Given the description of an element on the screen output the (x, y) to click on. 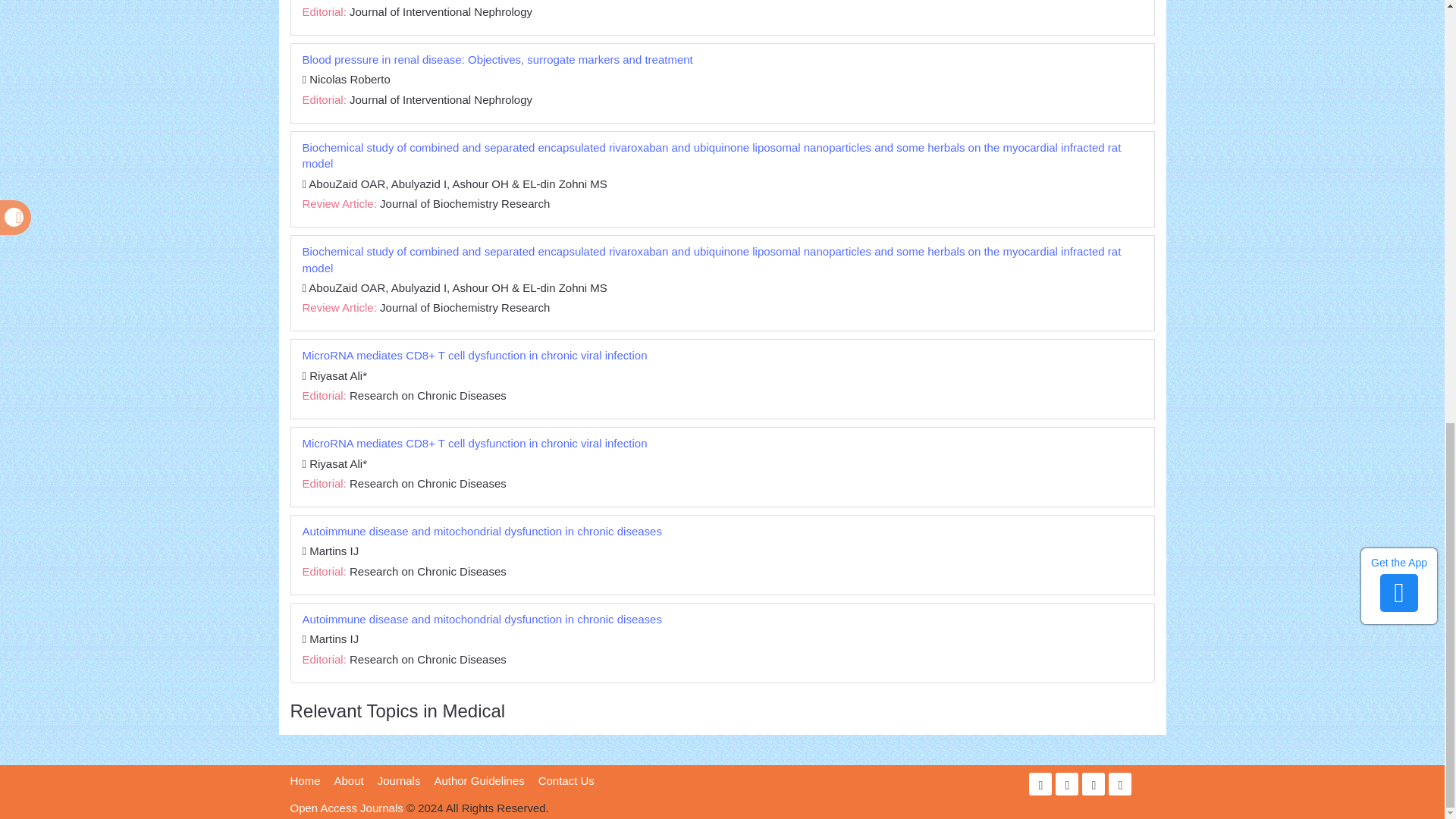
Journal of Biochemistry Research (465, 203)
Journal of Interventional Nephrology (440, 99)
Journal of Interventional Nephrology (440, 11)
